Given the description of an element on the screen output the (x, y) to click on. 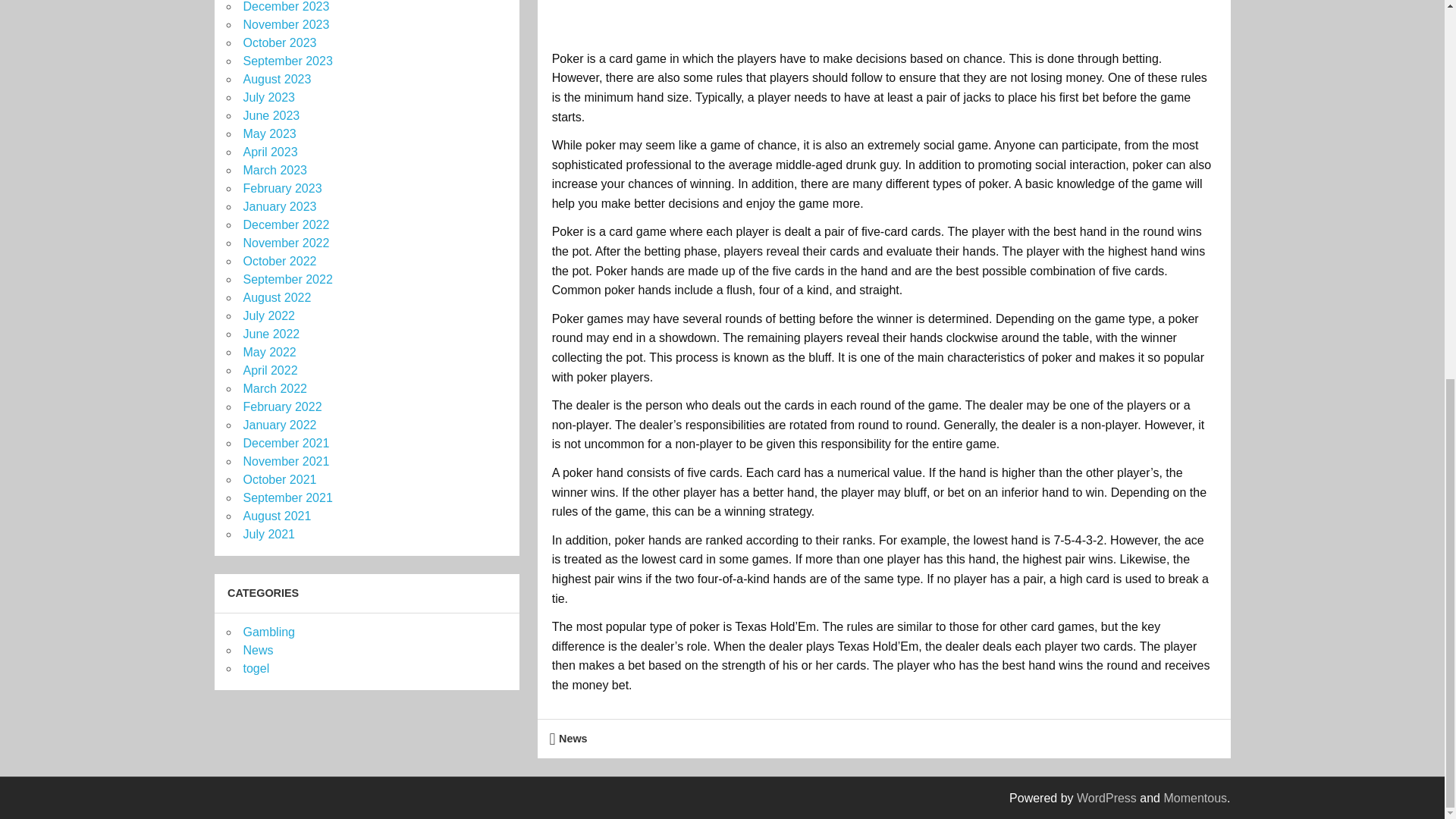
June 2022 (271, 333)
July 2022 (269, 315)
December 2023 (286, 6)
July 2023 (269, 97)
October 2022 (279, 260)
November 2023 (286, 24)
April 2023 (270, 151)
January 2023 (279, 205)
May 2023 (269, 133)
November 2022 (286, 242)
